Given the description of an element on the screen output the (x, y) to click on. 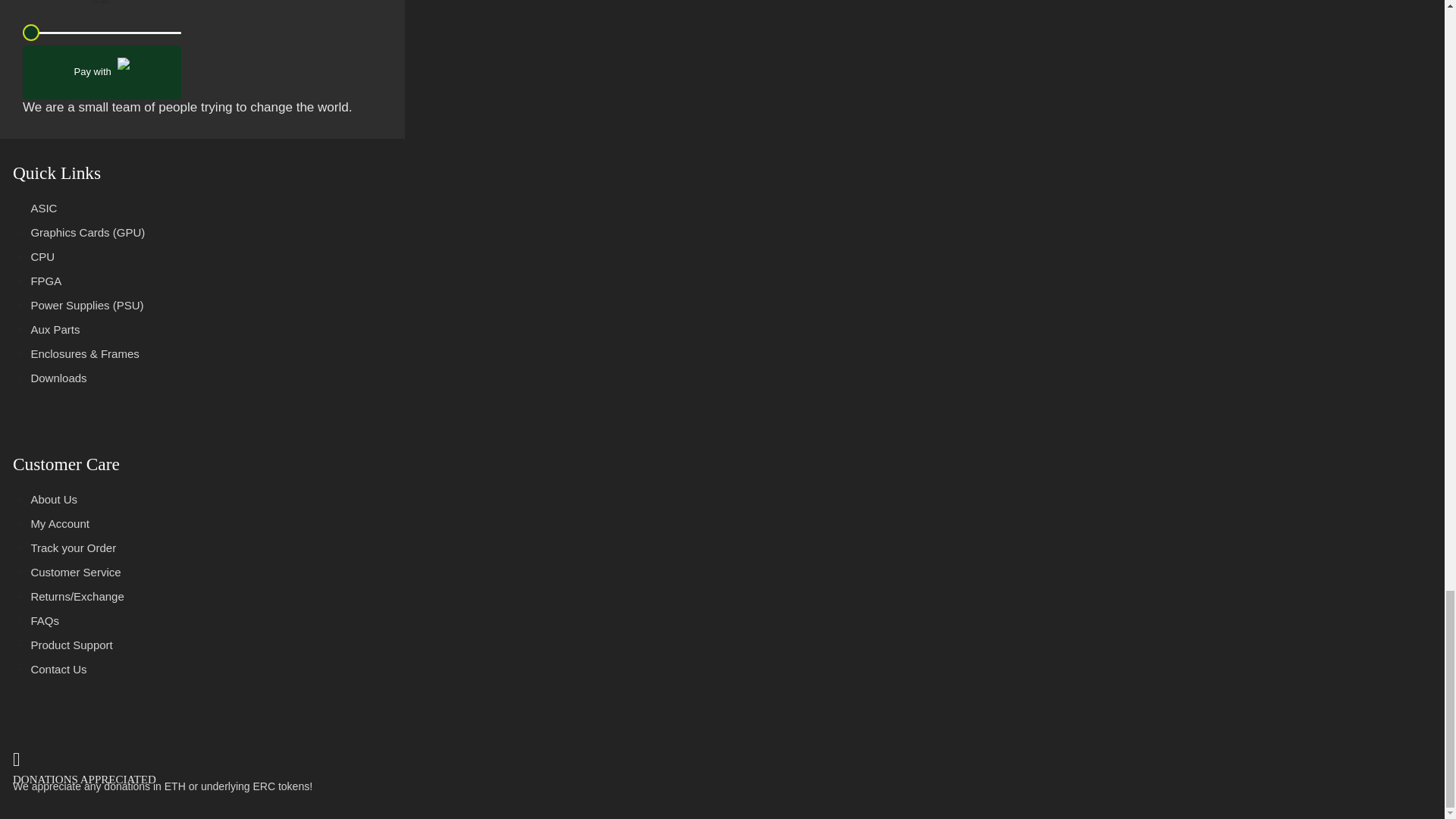
100 (101, 32)
